Given the description of an element on the screen output the (x, y) to click on. 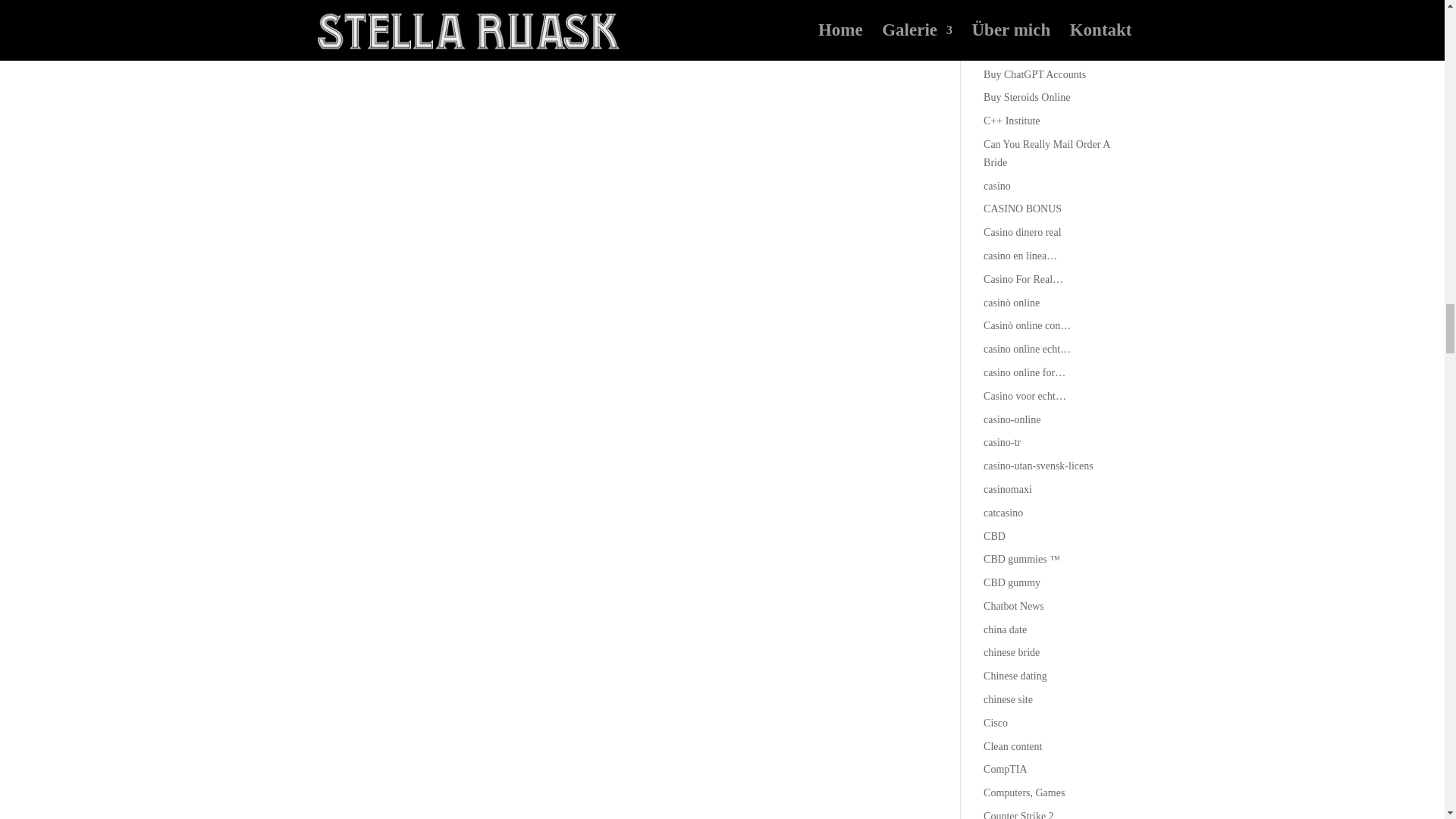
Computers, Games (1024, 792)
Business, Advertising (1029, 4)
Business, Home Based Business (1052, 50)
Business, Careers (1021, 27)
